Given the description of an element on the screen output the (x, y) to click on. 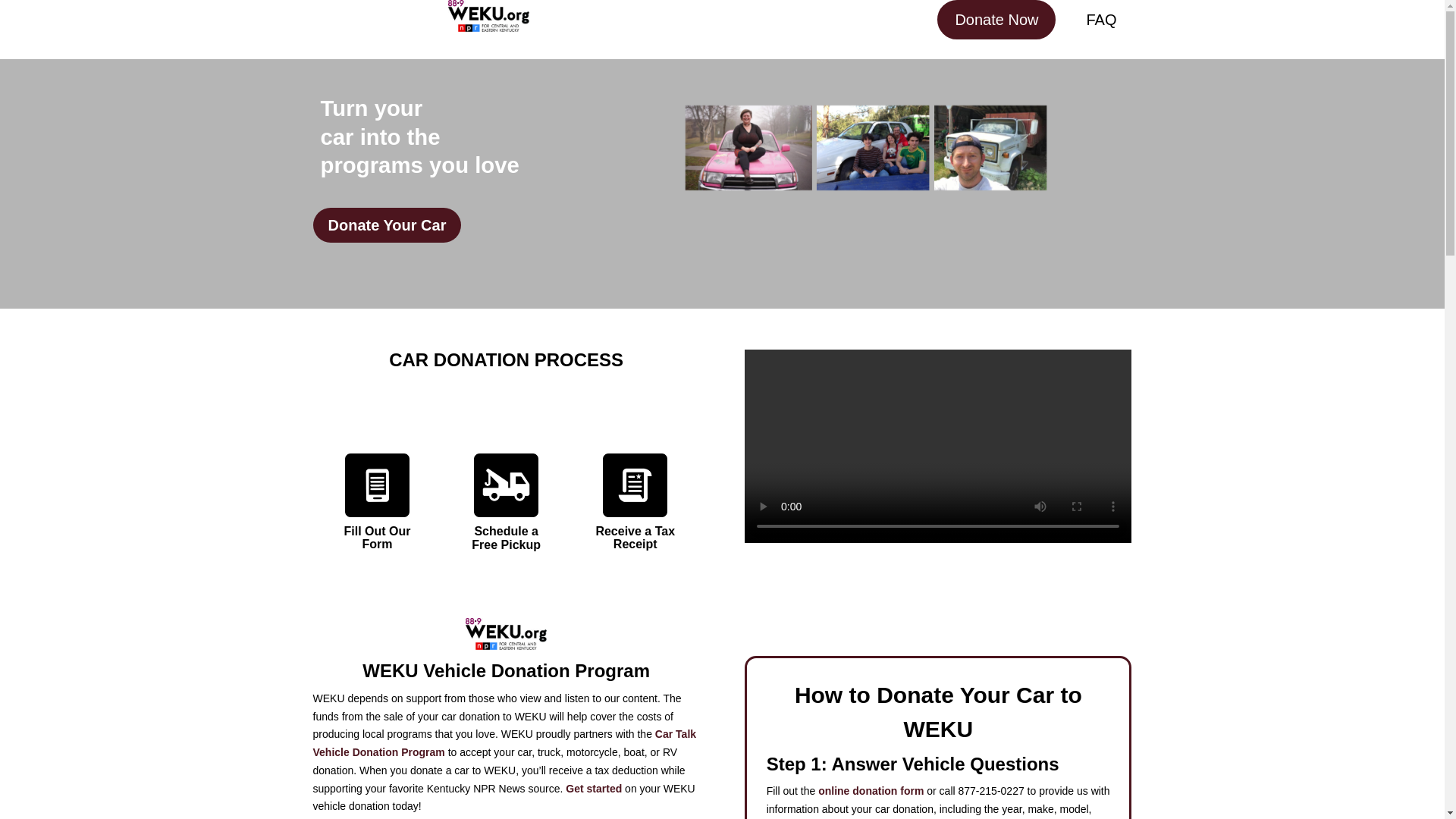
online donation form (870, 790)
Donate Your Car (387, 225)
Untitled drawing (865, 147)
Donate Now (996, 19)
Get started (593, 788)
Car Talk Vehicle Donation Program (504, 743)
Fill Out Our Form (376, 537)
FAQ (1100, 19)
Receive a Tax Receipt (635, 537)
Schedule a Free Pickup (505, 537)
